Given the description of an element on the screen output the (x, y) to click on. 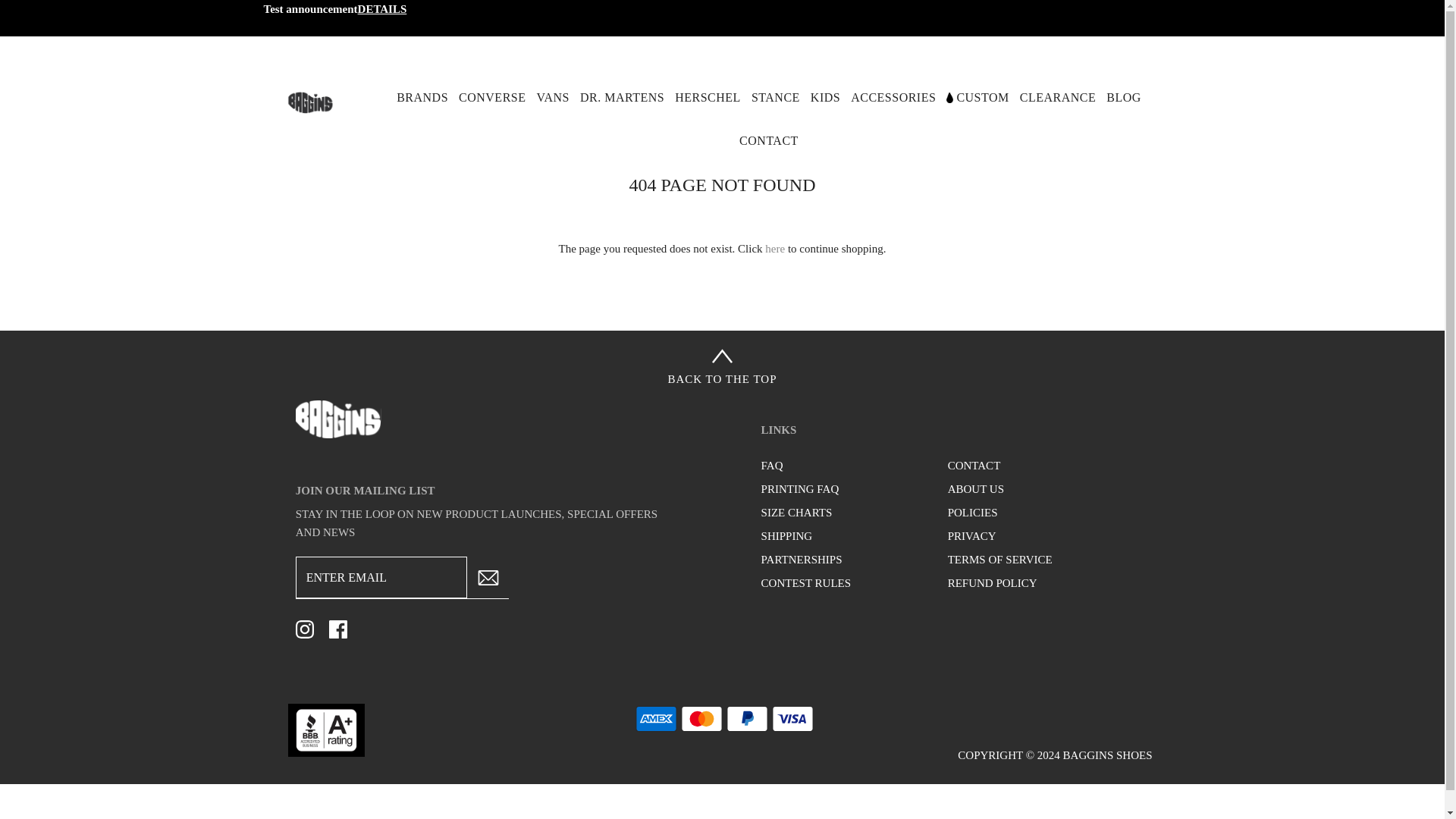
INSTAGRAM ICON (304, 628)
DETAILS (382, 9)
FACEBOOK ICON (338, 628)
American Express (655, 718)
Visa (792, 718)
Mastercard (701, 718)
PayPal (747, 718)
